Given the description of an element on the screen output the (x, y) to click on. 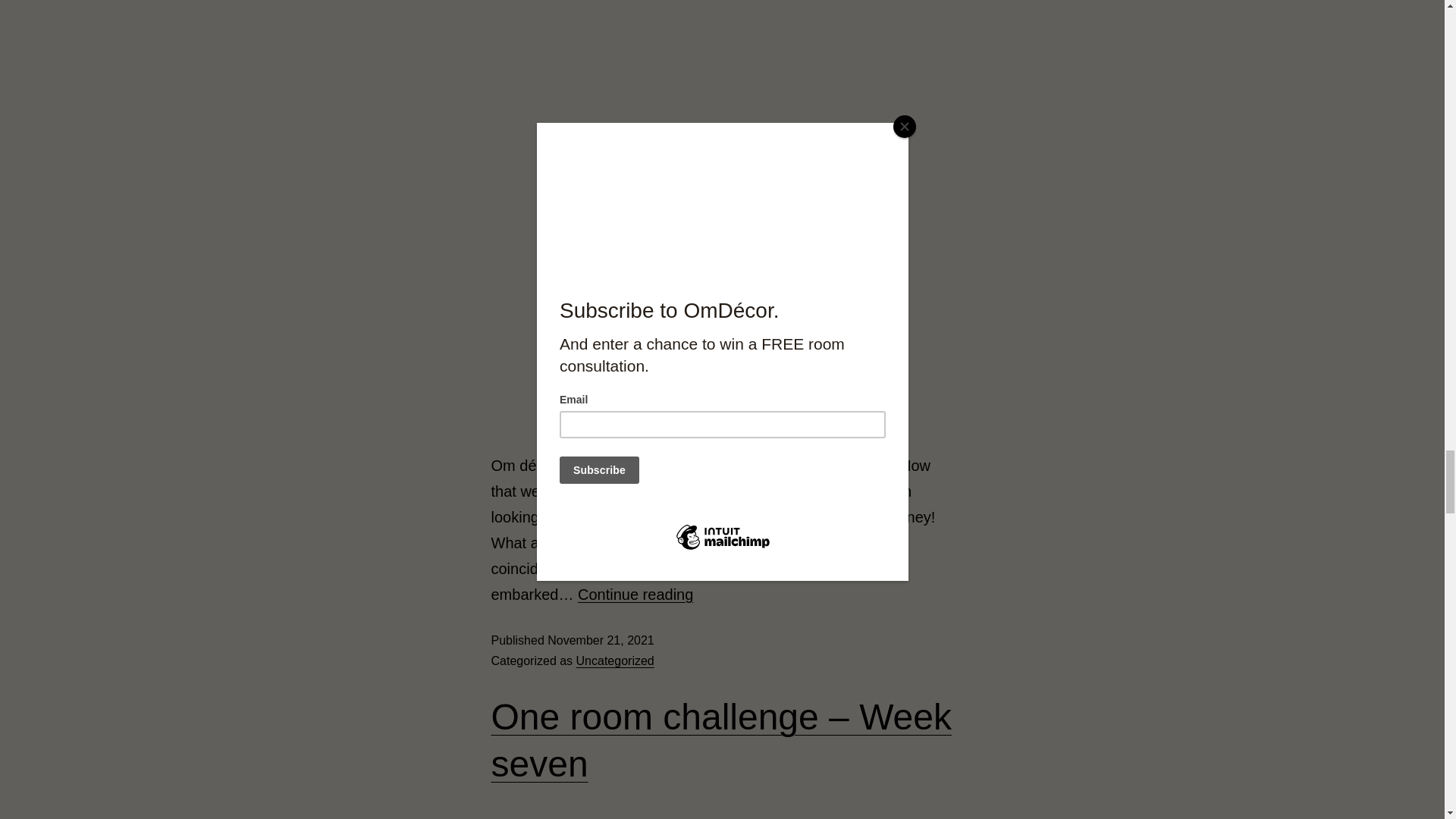
Uncategorized (614, 660)
Continue reading (635, 594)
